Given the description of an element on the screen output the (x, y) to click on. 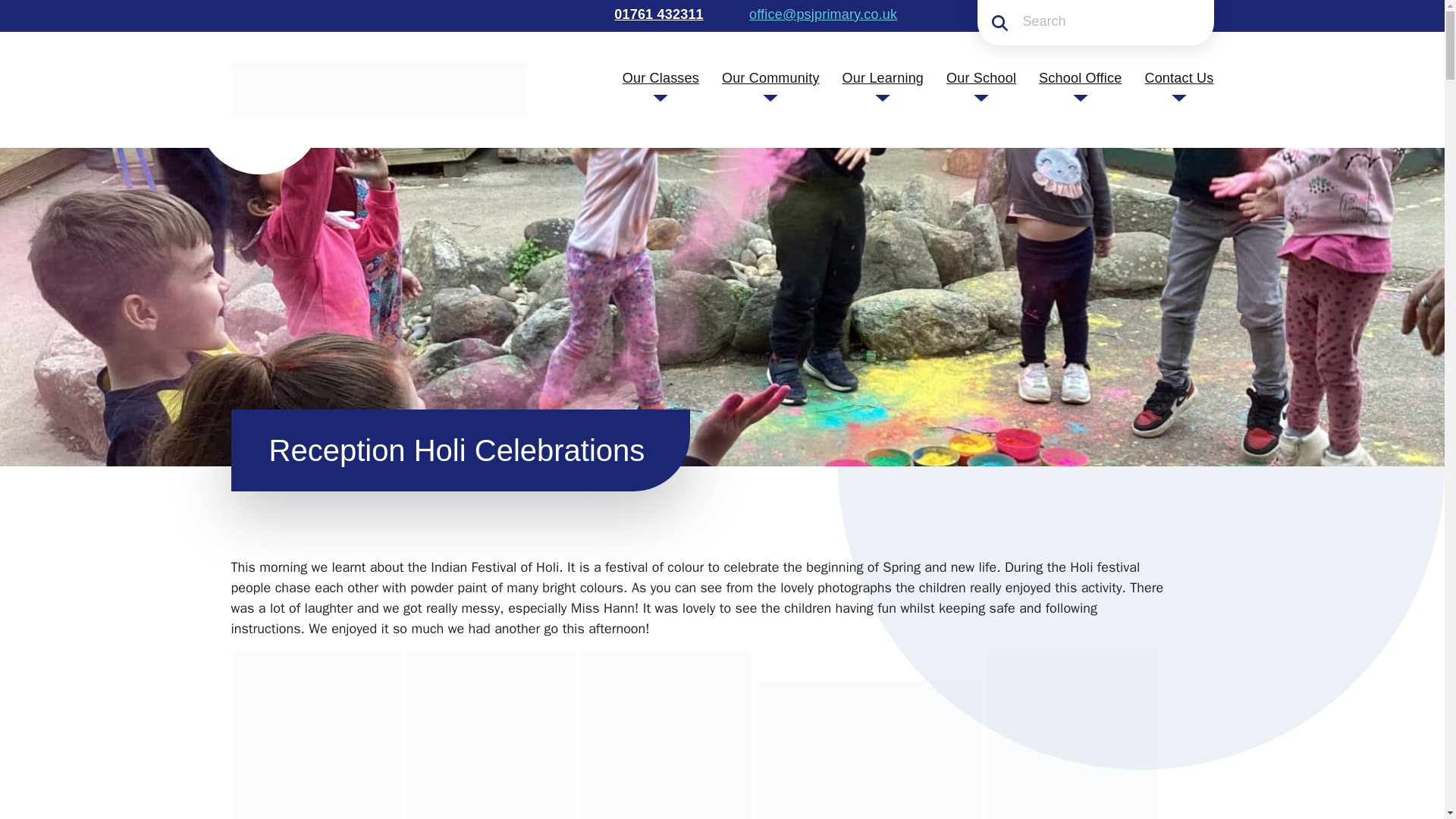
01761 432311 (656, 14)
Our Classes (660, 77)
Our Community (770, 77)
Our Community (770, 77)
Our Classes (660, 77)
Our Learning (883, 77)
Our School (981, 77)
